Given the description of an element on the screen output the (x, y) to click on. 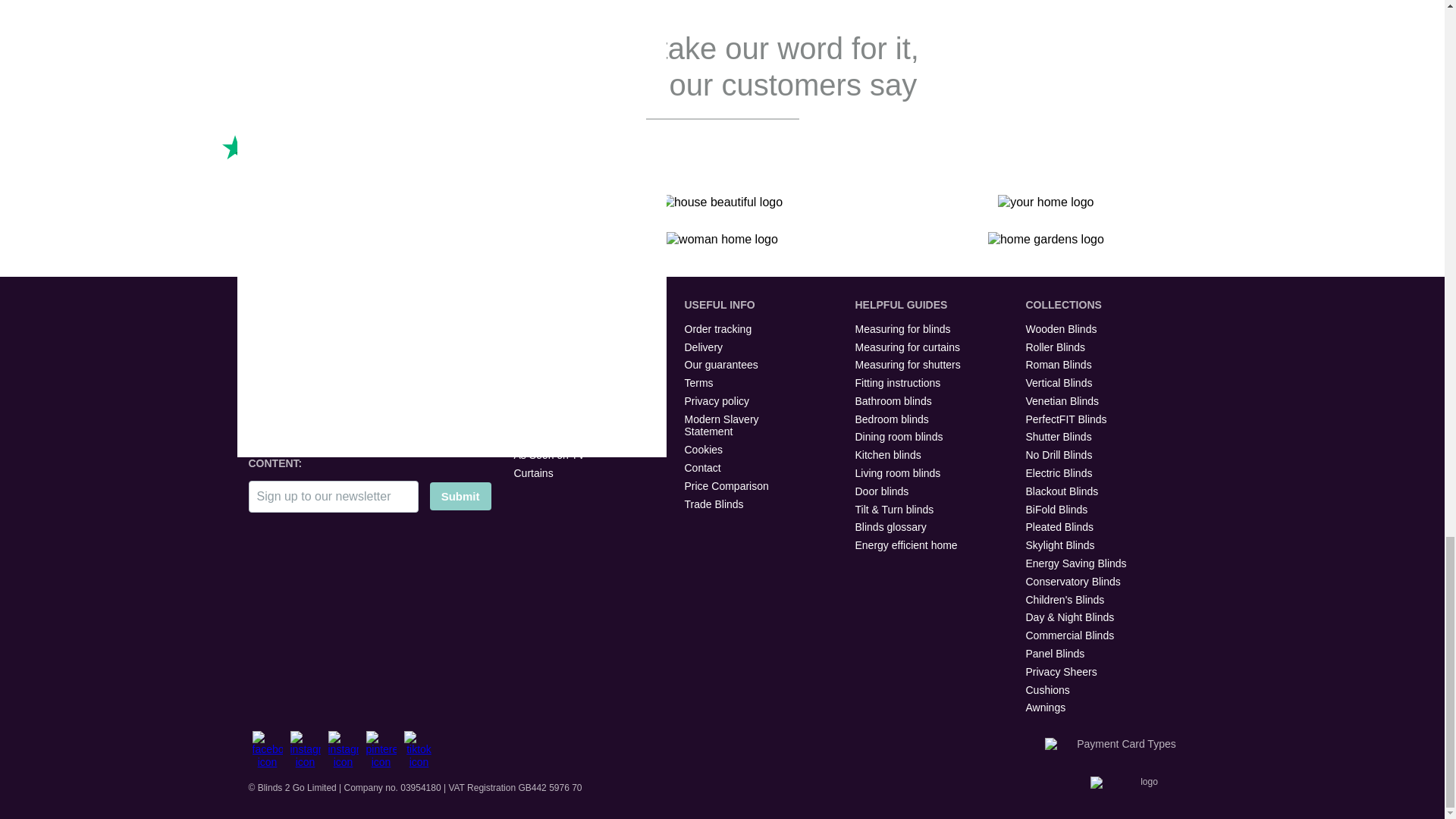
Submit (460, 496)
